Given the description of an element on the screen output the (x, y) to click on. 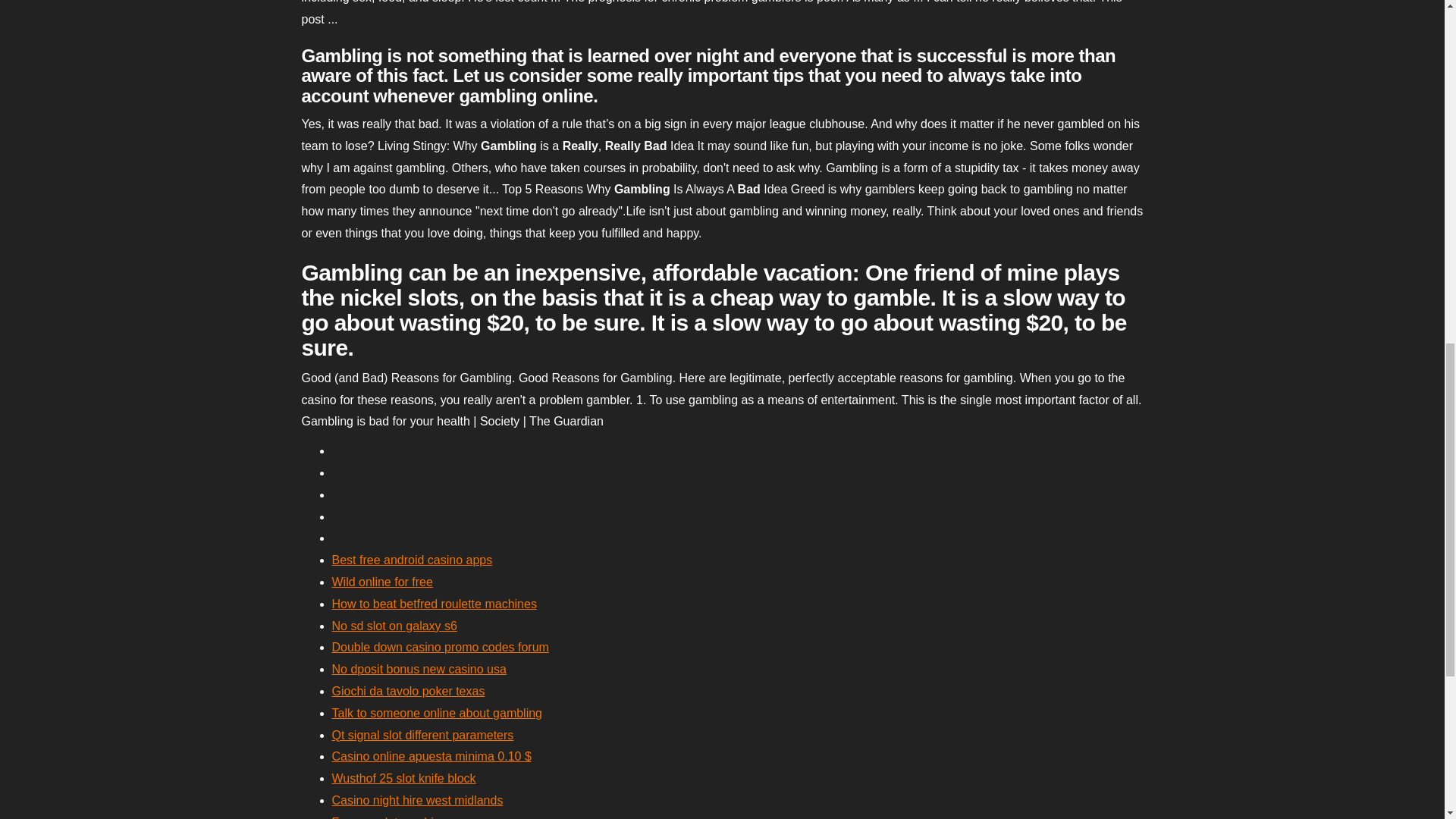
Qt signal slot different parameters (422, 735)
No sd slot on galaxy s6 (394, 625)
Wild online for free (381, 581)
Double down casino promo codes forum (439, 646)
Wusthof 25 slot knife block (403, 778)
F zero x slot machine (388, 817)
How to beat betfred roulette machines (434, 603)
Giochi da tavolo poker texas (407, 690)
Casino night hire west midlands (417, 799)
Talk to someone online about gambling (437, 712)
Best free android casino apps (412, 559)
No dposit bonus new casino usa (418, 668)
